Given the description of an element on the screen output the (x, y) to click on. 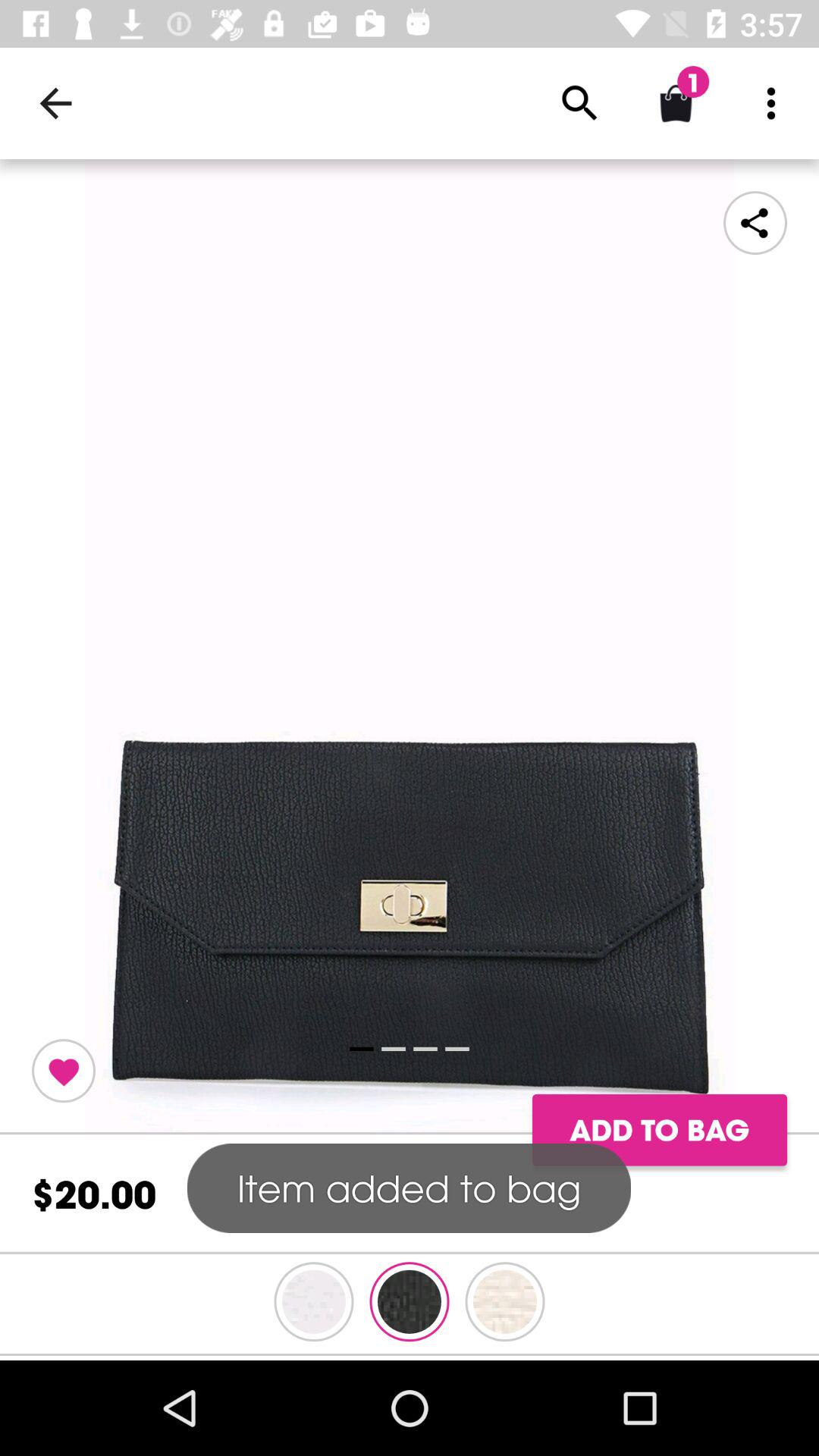
add to favourites (63, 1070)
